Given the description of an element on the screen output the (x, y) to click on. 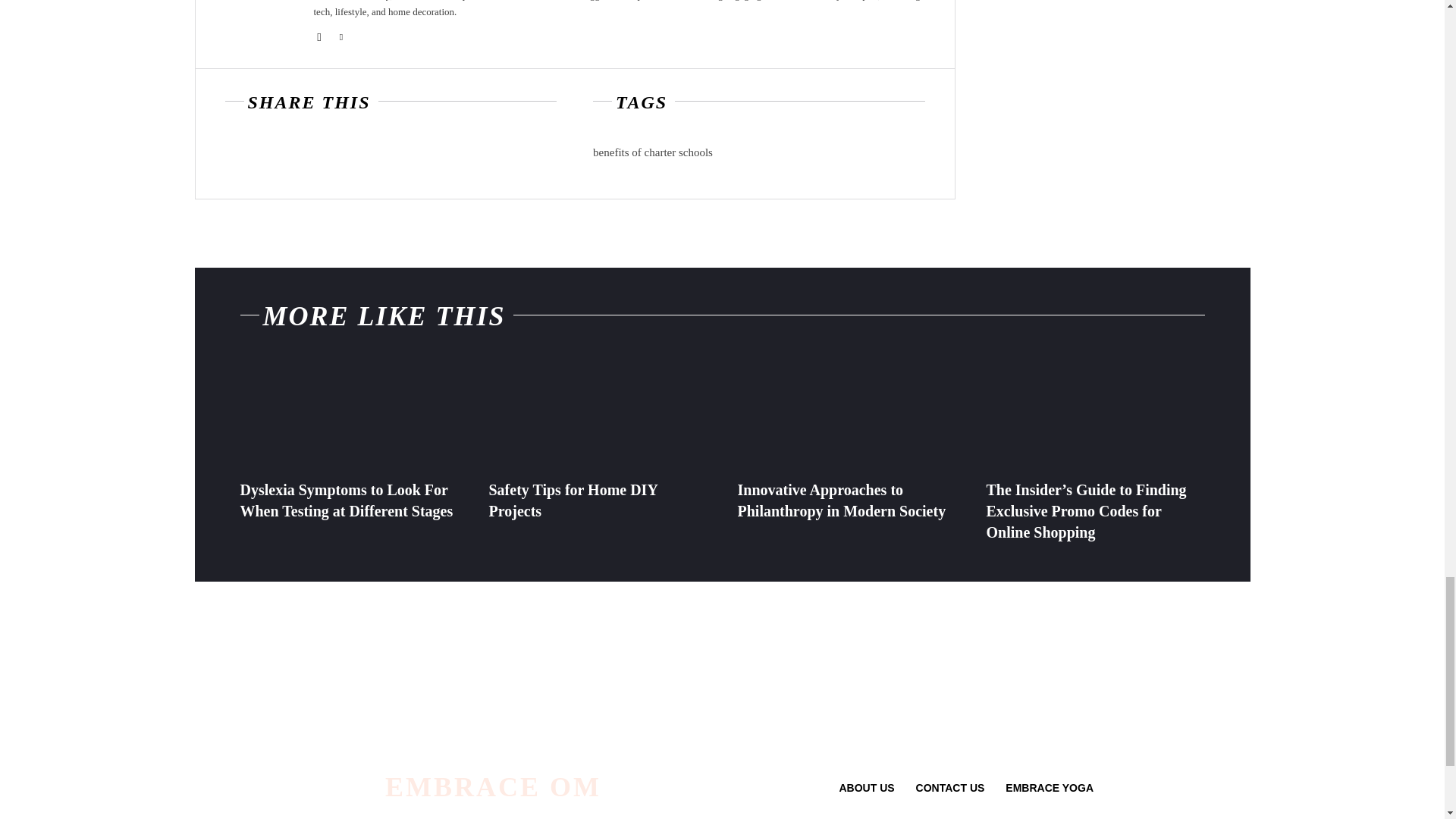
Facebook (319, 34)
Linkedin (340, 34)
Subhajit Khara (254, 22)
